Given the description of an element on the screen output the (x, y) to click on. 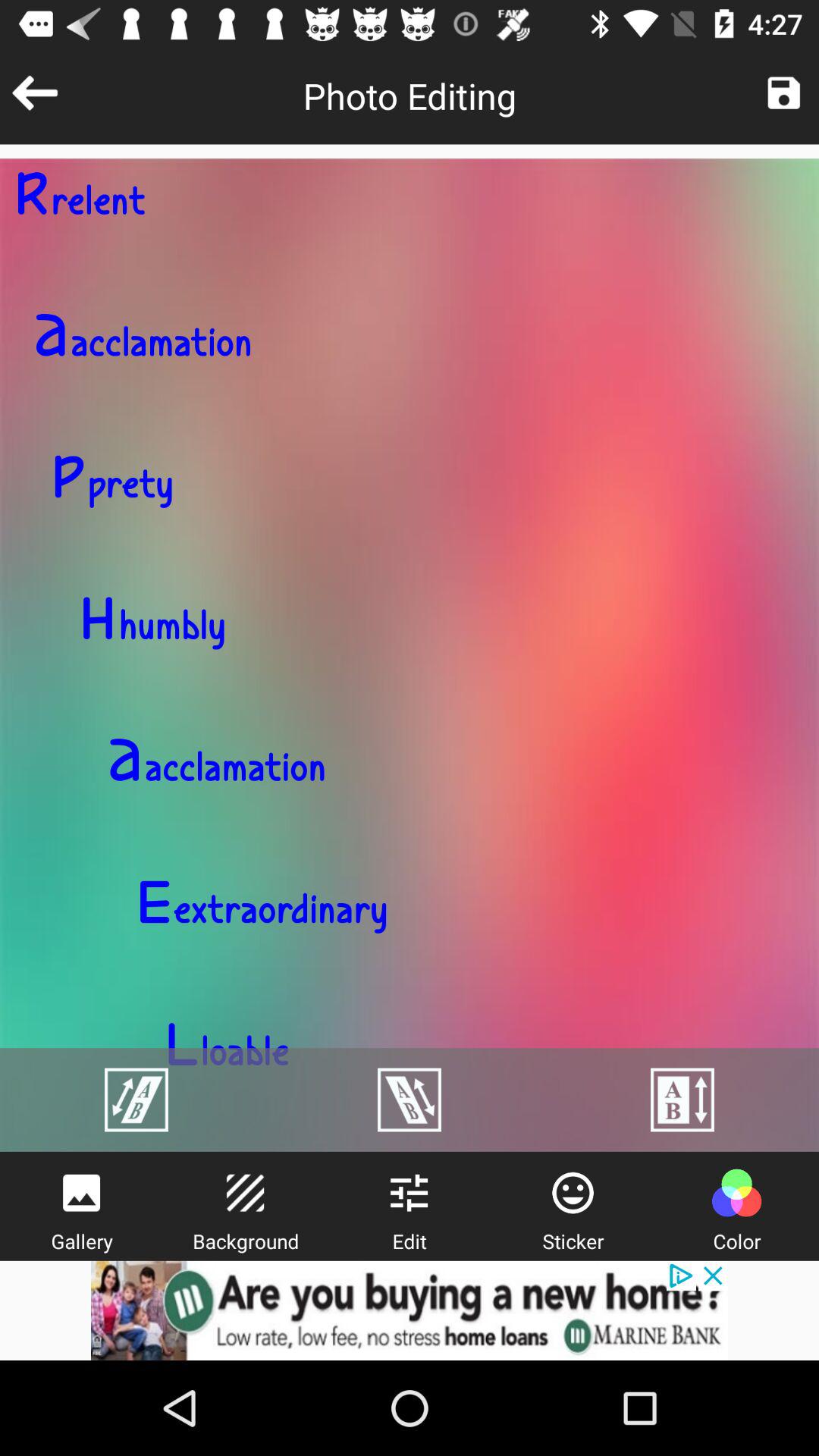
choose colors (736, 1192)
